Given the description of an element on the screen output the (x, y) to click on. 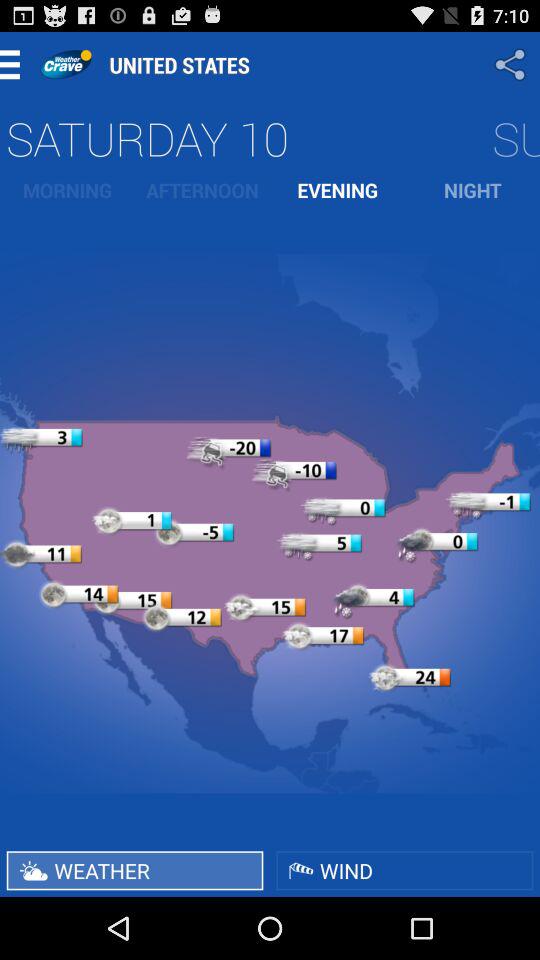
turn off item to the right of weather icon (404, 870)
